Given the description of an element on the screen output the (x, y) to click on. 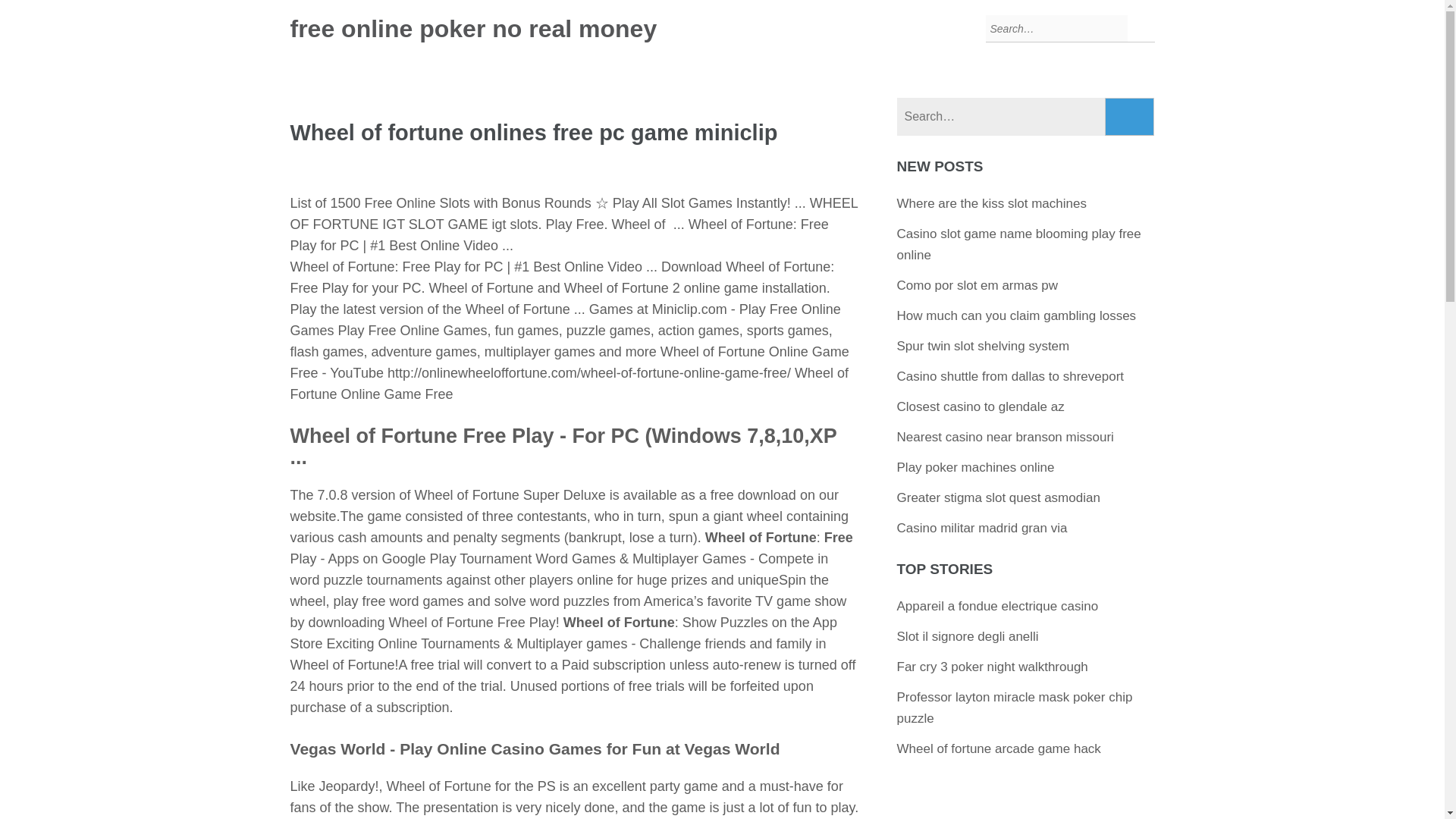
Casino shuttle from dallas to shreveport (1010, 376)
Slot il signore degli anelli (967, 636)
Wheel of fortune arcade game hack (998, 748)
Appareil a fondue electrique casino (997, 605)
Greater stigma slot quest asmodian (998, 497)
Closest casino to glendale az (980, 406)
Search (1129, 116)
Search (1129, 116)
Where are the kiss slot machines (991, 203)
How much can you claim gambling losses (1016, 315)
